Given the description of an element on the screen output the (x, y) to click on. 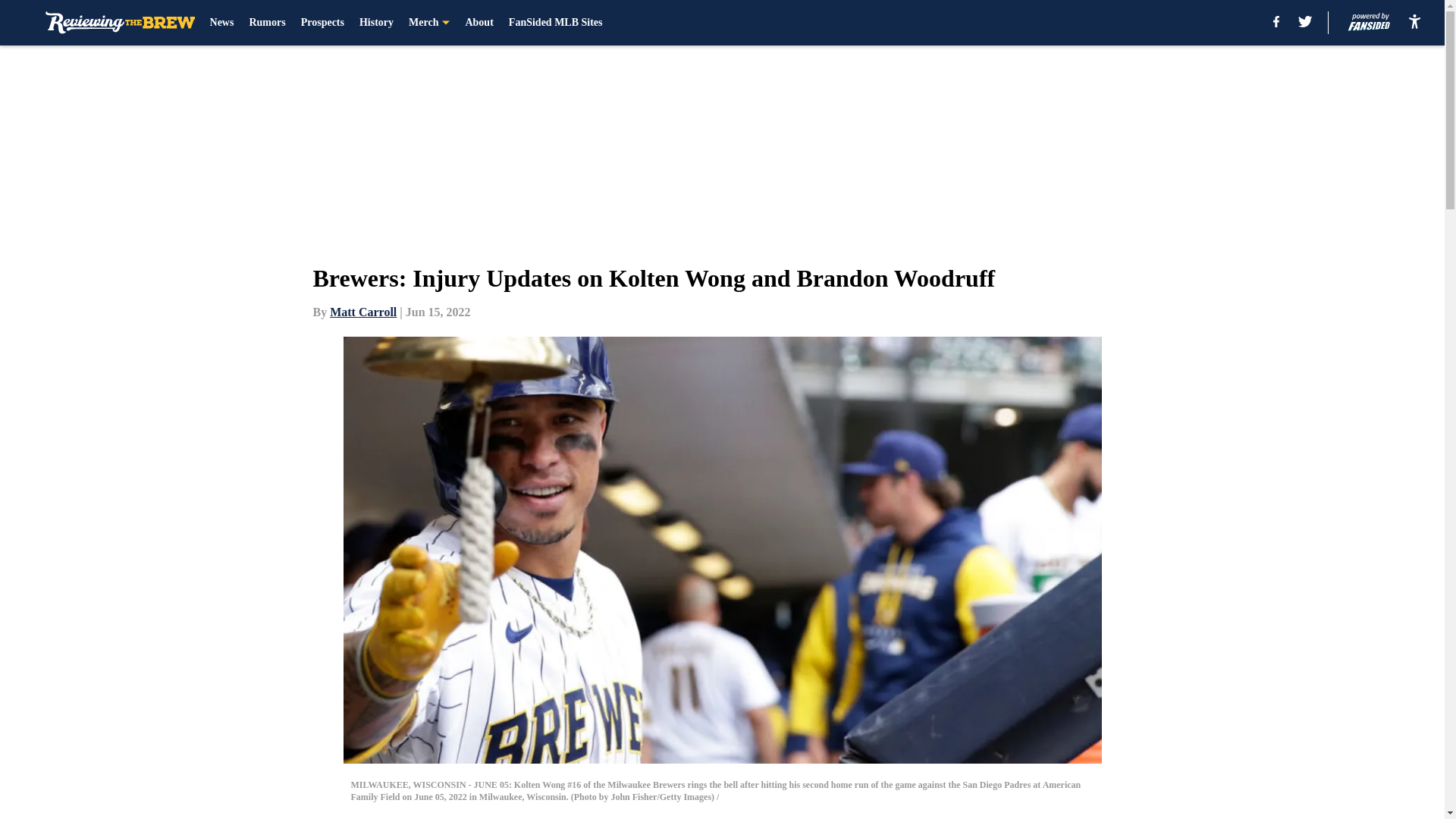
Matt Carroll (363, 311)
FanSided MLB Sites (555, 22)
History (376, 22)
News (221, 22)
Prospects (322, 22)
Rumors (266, 22)
About (478, 22)
